Given the description of an element on the screen output the (x, y) to click on. 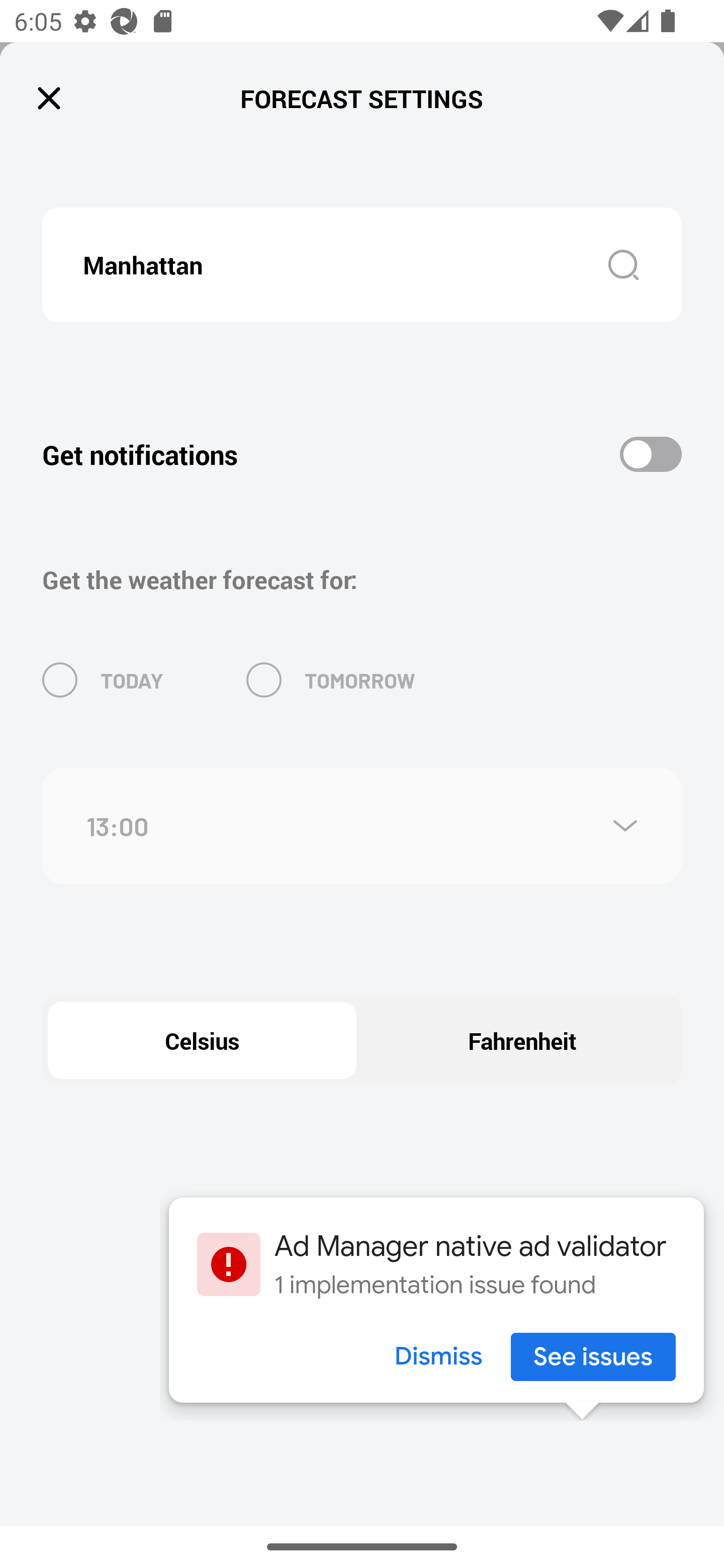
Leading Icon (49, 98)
Manhattan Search Locations (361, 263)
TODAY (102, 680)
TOMORROW (330, 680)
13:00 Open Setting (361, 826)
Fahrenheit (522, 1041)
